Given the description of an element on the screen output the (x, y) to click on. 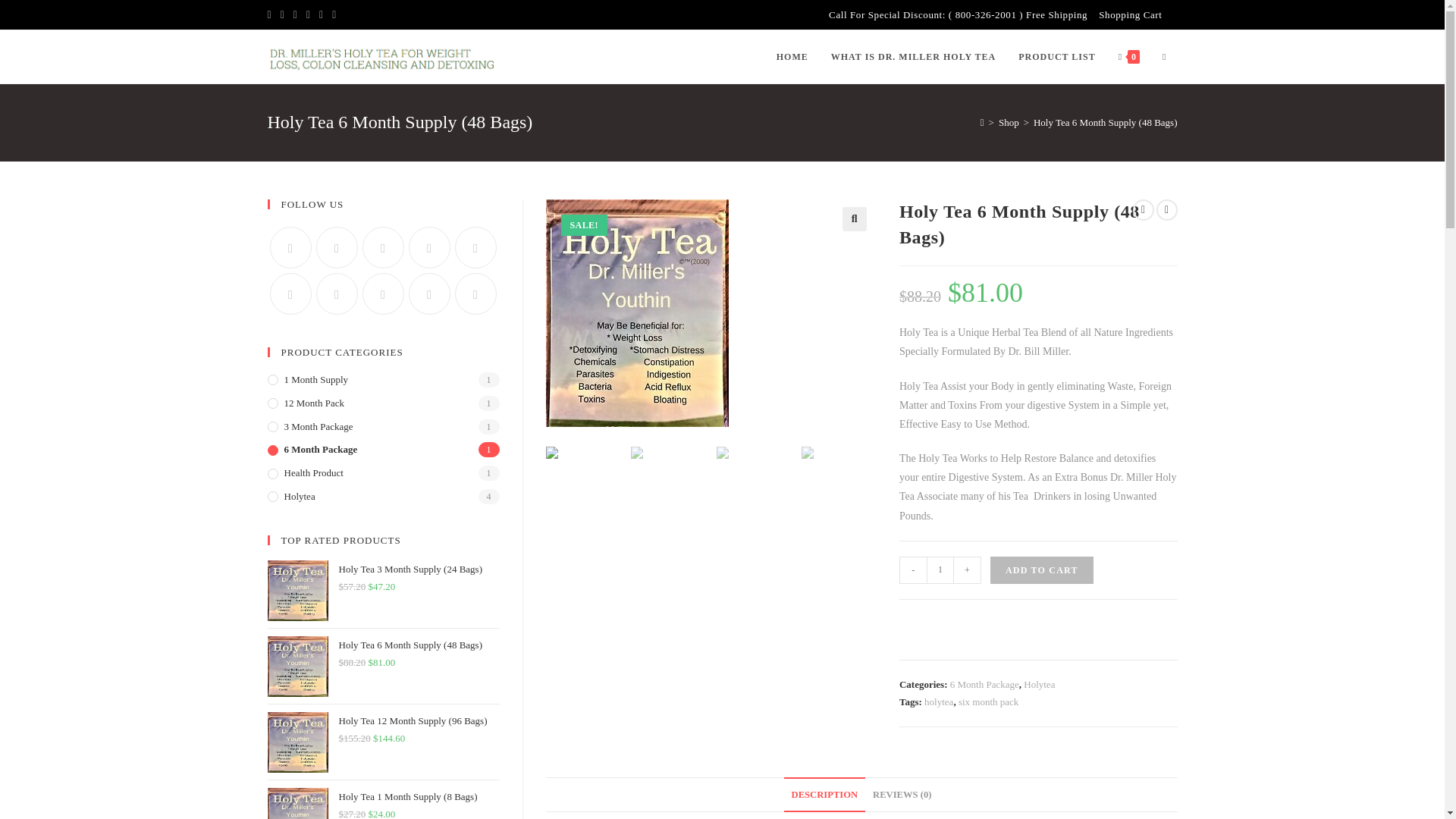
Instagram (383, 247)
PRODUCT LIST (1056, 56)
Shop (1008, 122)
Twitter (290, 247)
Shopping Cart (1130, 14)
Flickr (290, 293)
664 (1104, 24)
Pinterest (475, 247)
Qty (939, 569)
GooglePlus (428, 247)
